Given the description of an element on the screen output the (x, y) to click on. 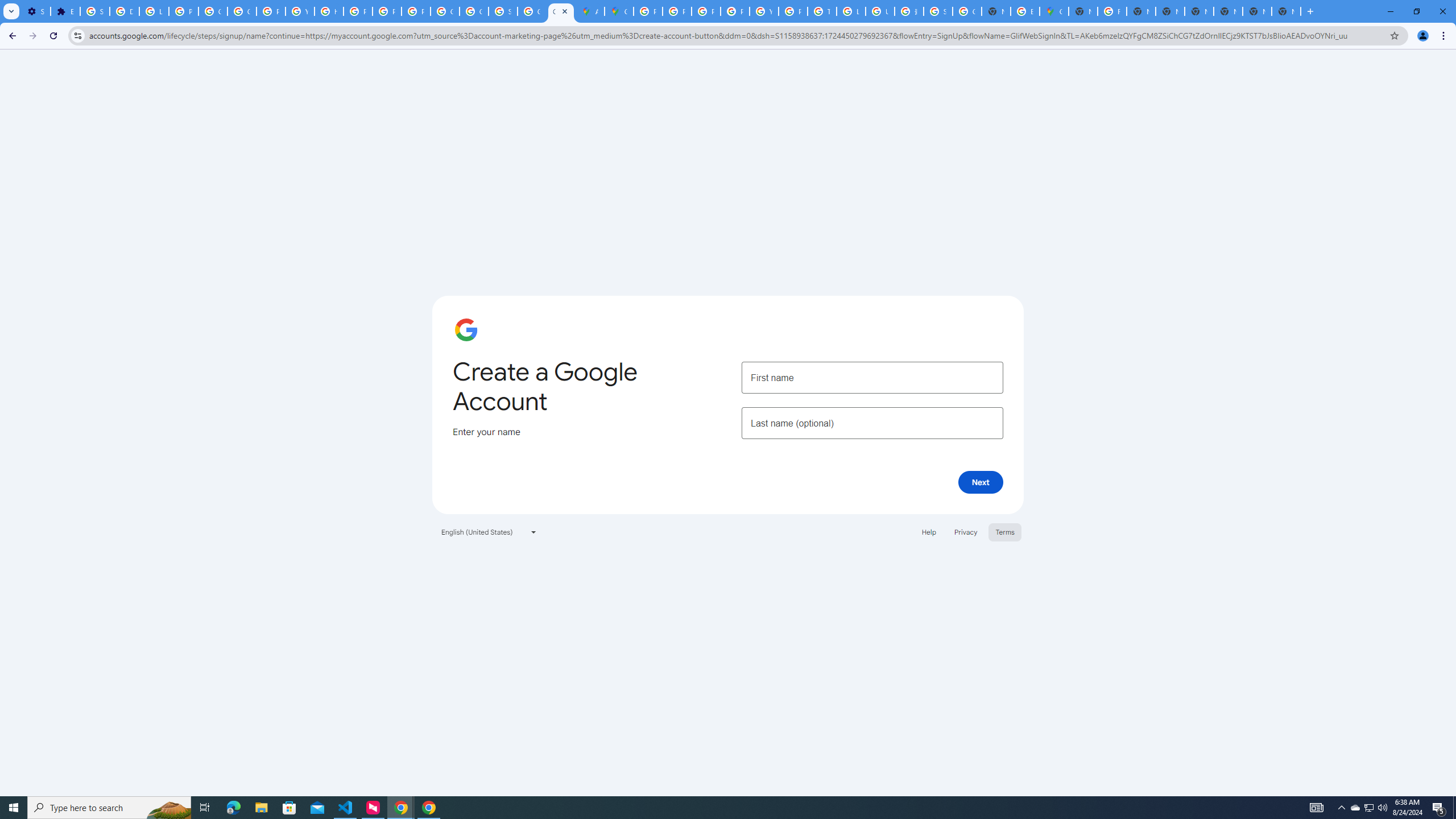
Chrome (1445, 35)
You (1422, 35)
Delete photos & videos - Computer - Google Photos Help (124, 11)
English (United States) (489, 531)
Privacy Help Center - Policies Help (705, 11)
